Given the description of an element on the screen output the (x, y) to click on. 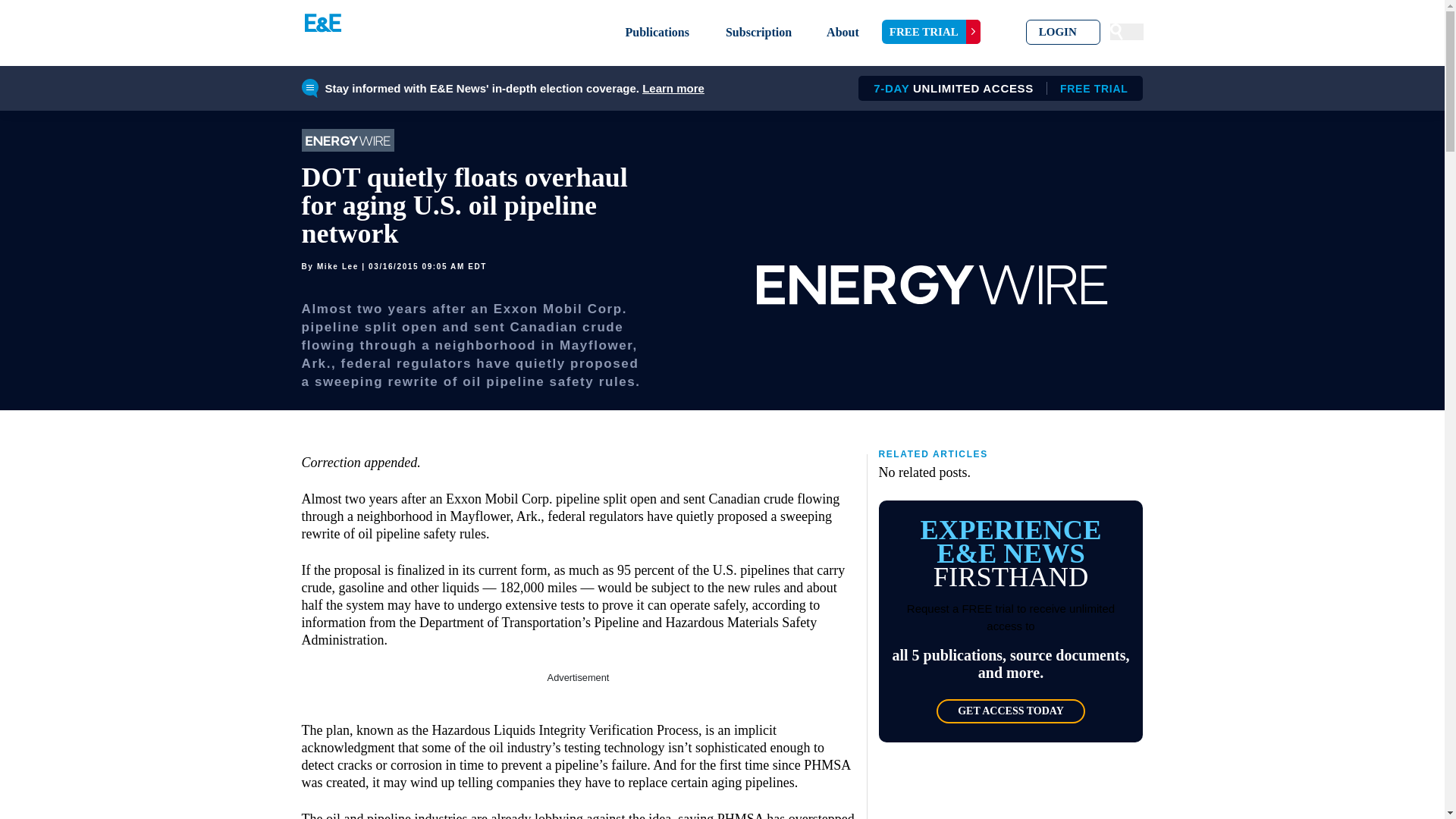
About (843, 32)
Learn more (673, 88)
Publications (656, 32)
LOGIN (1063, 32)
GET ACCESS TODAY (1010, 711)
FREE TRIAL (930, 31)
Subscription (758, 32)
